Given the description of an element on the screen output the (x, y) to click on. 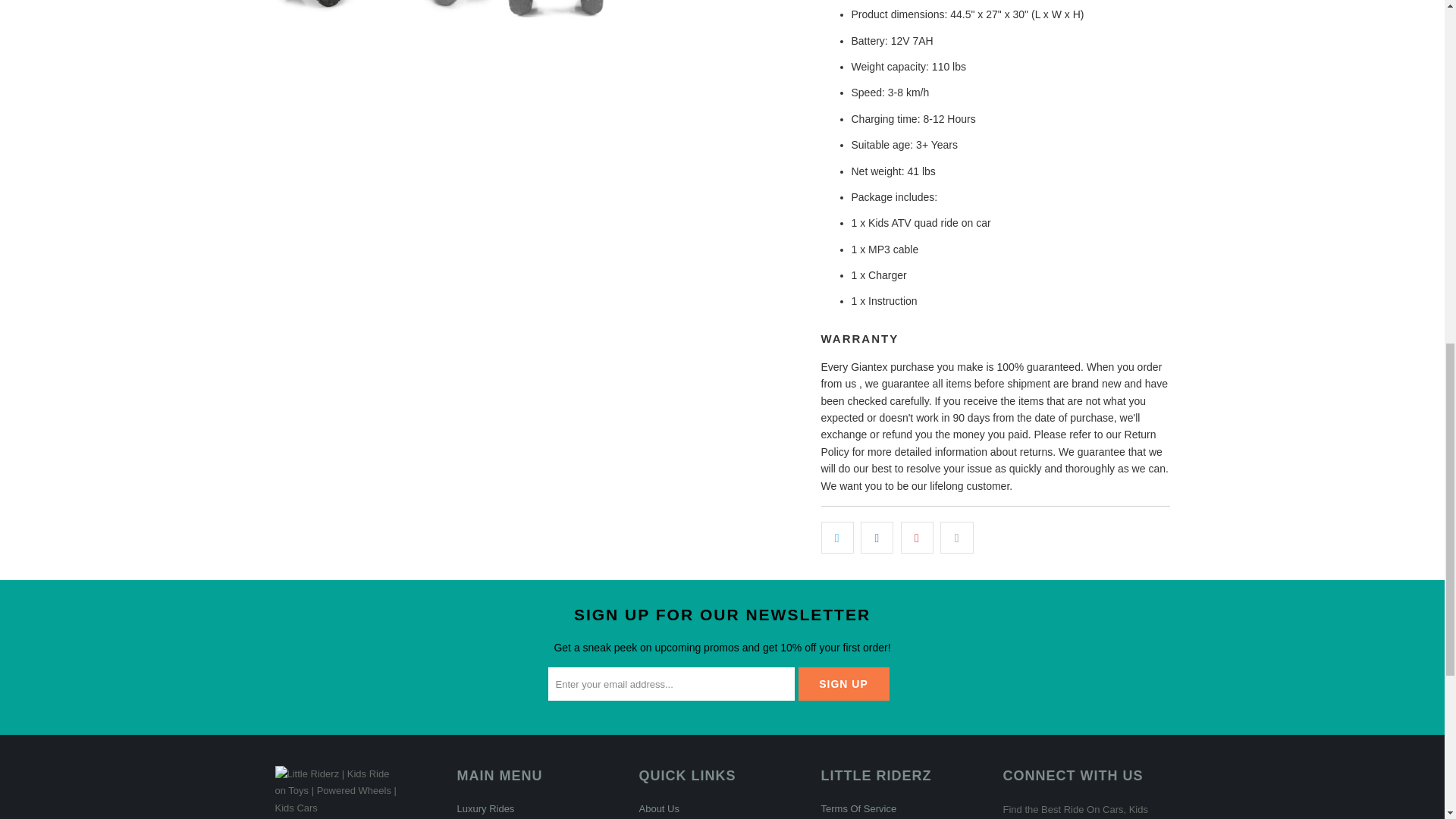
Share this on Twitter (837, 537)
Email this to a friend (956, 537)
Share this on Facebook (876, 537)
Sign Up (842, 684)
Share this on Pinterest (917, 537)
